Given the description of an element on the screen output the (x, y) to click on. 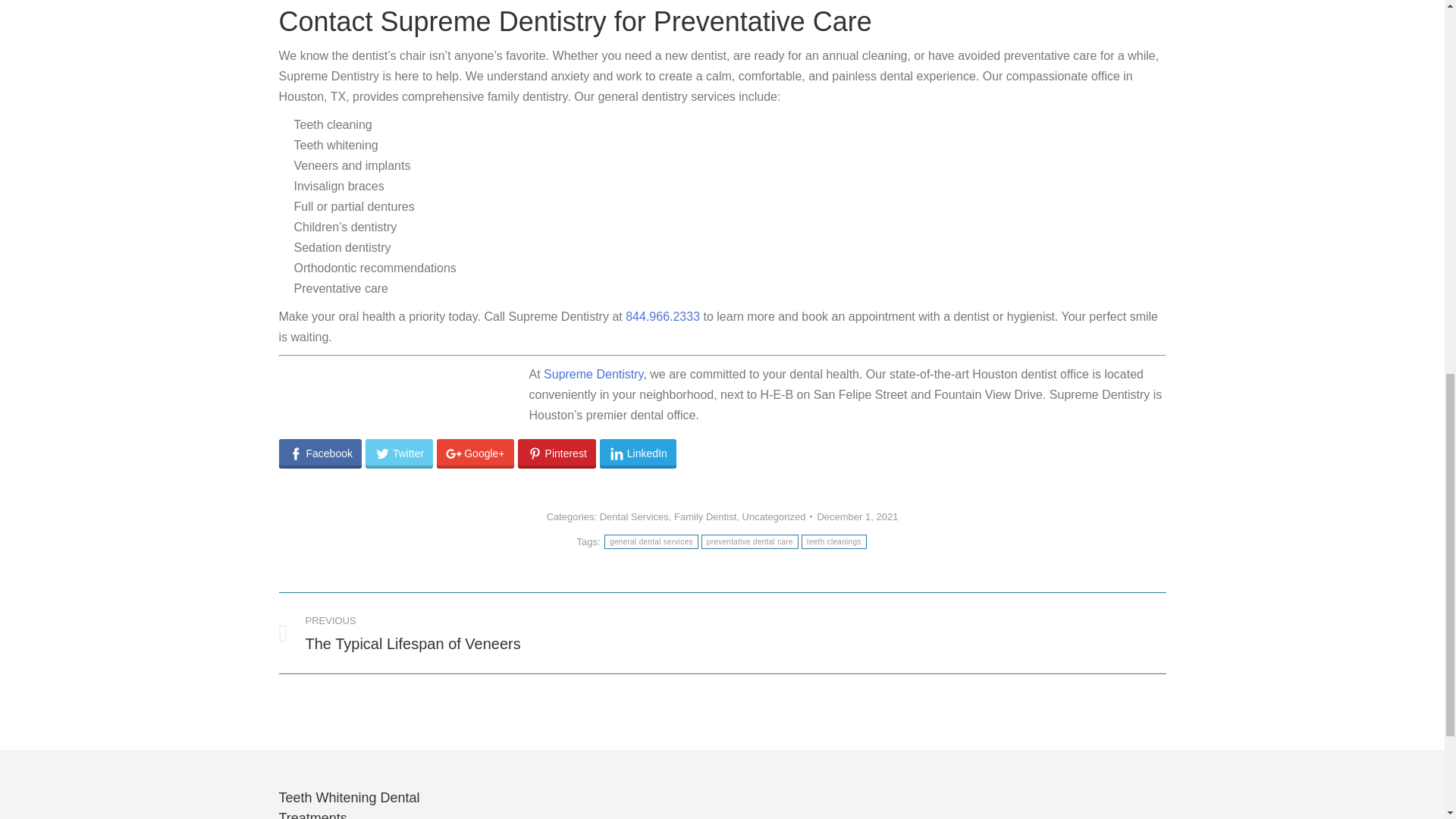
844.966.2333 (489, 632)
Twitter (663, 316)
Family Dentist (398, 453)
preventative dental care (705, 516)
teeth cleanings (749, 541)
Dental Services (834, 541)
general dental services (633, 516)
December 1, 2021 (651, 541)
Supreme Dentistry (857, 516)
